Given the description of an element on the screen output the (x, y) to click on. 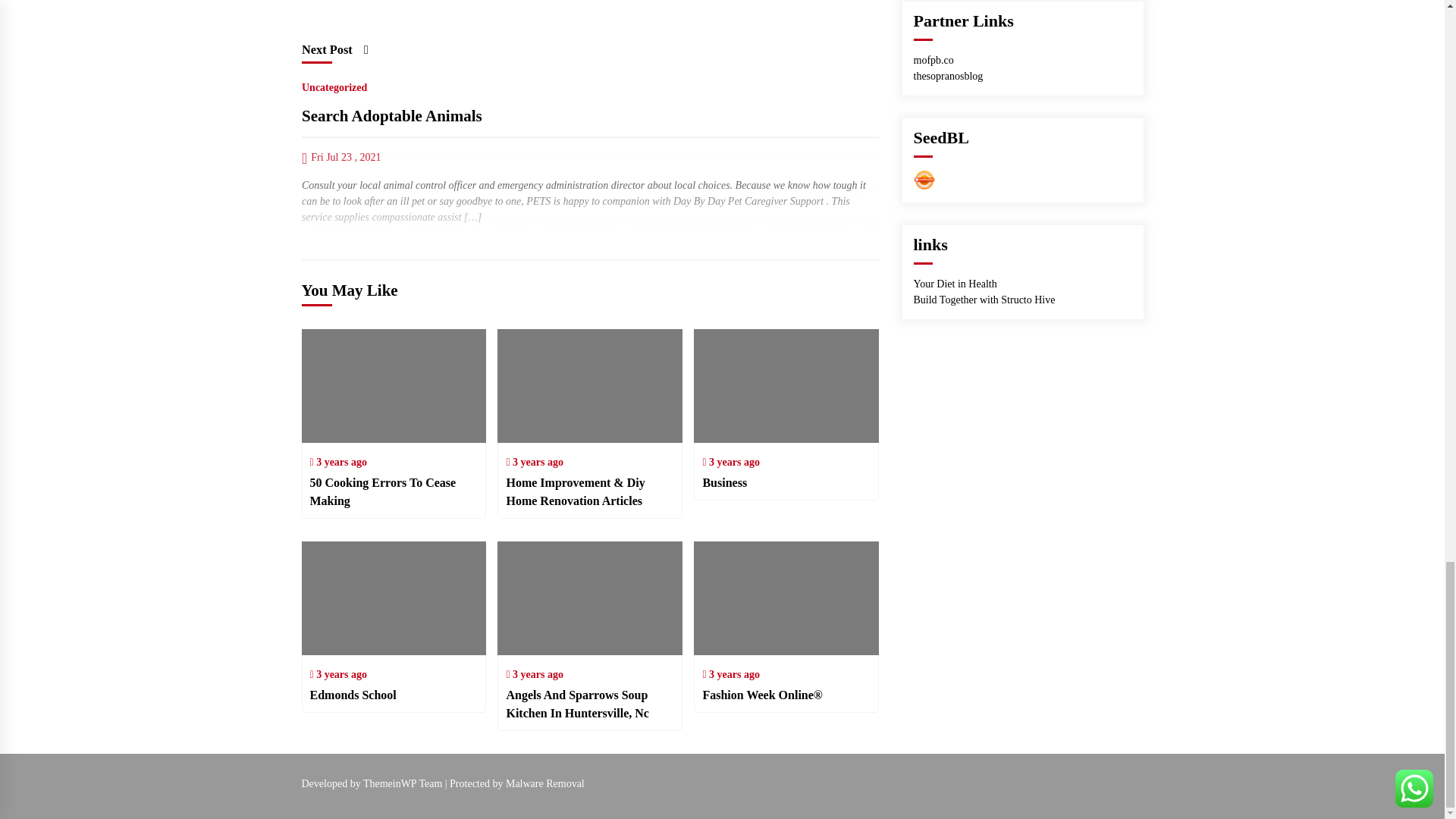
Seedbacklink (923, 179)
